Given the description of an element on the screen output the (x, y) to click on. 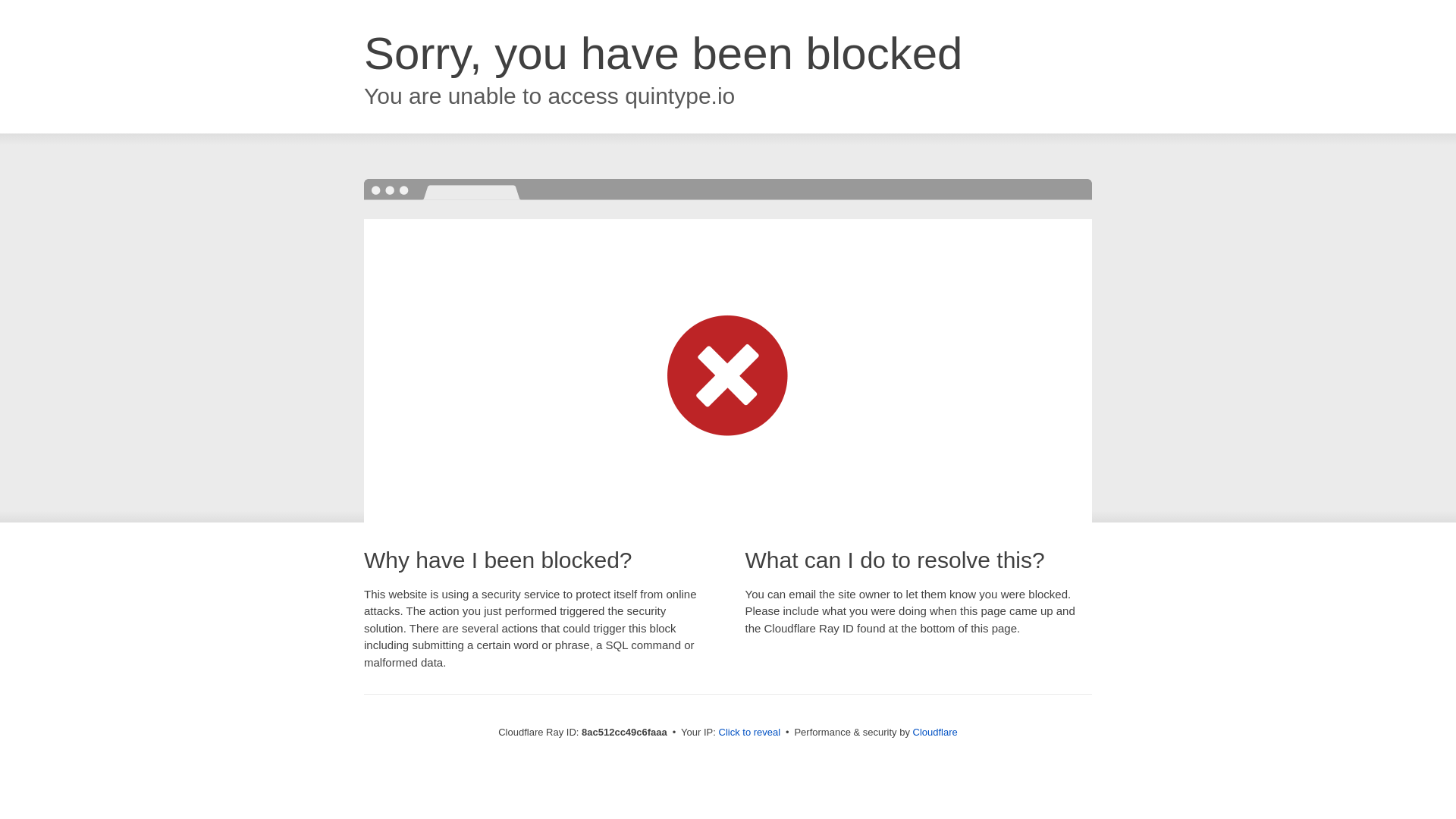
Cloudflare (935, 731)
Click to reveal (749, 732)
